Given the description of an element on the screen output the (x, y) to click on. 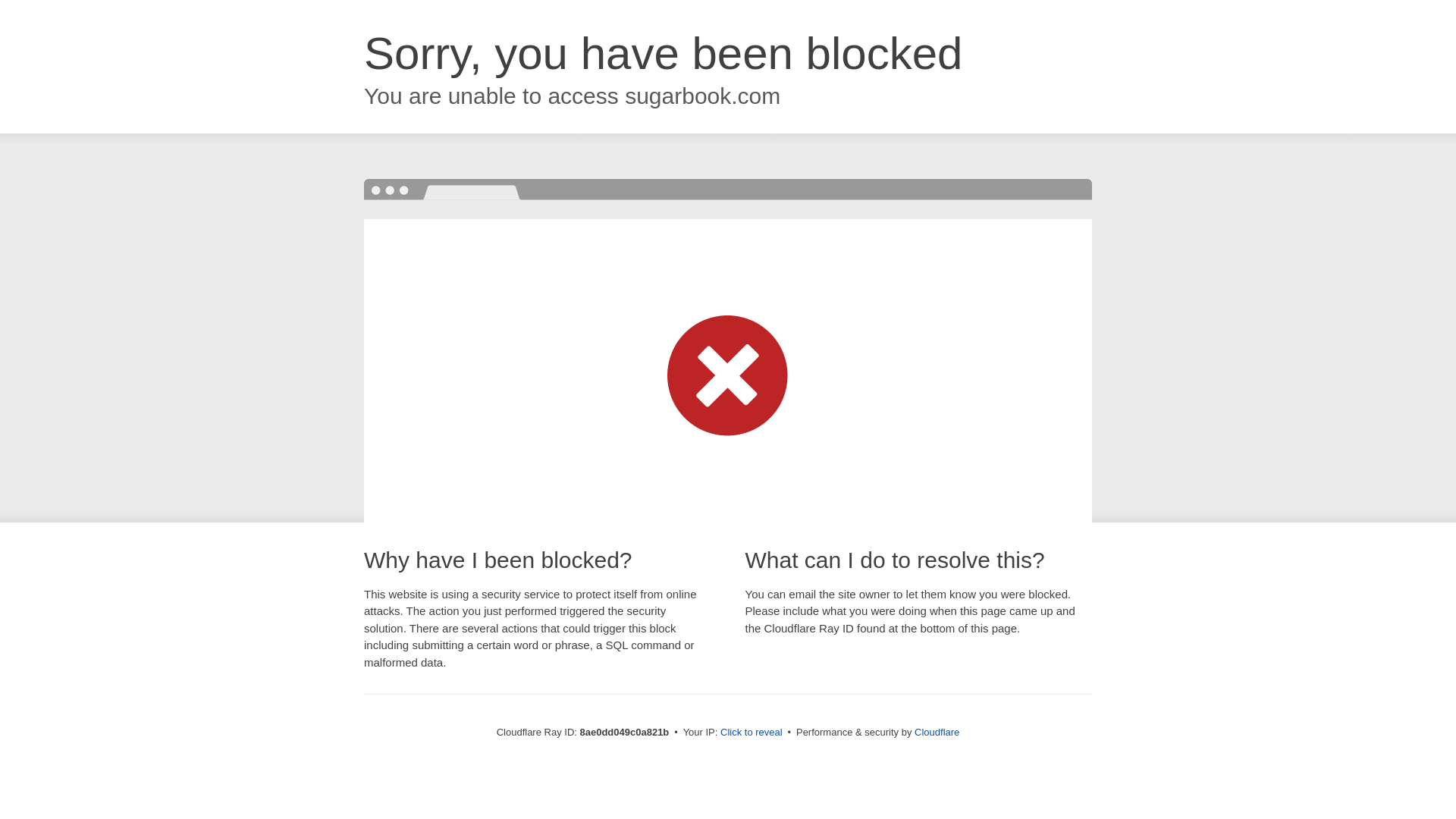
Click to reveal (751, 732)
Cloudflare (936, 731)
